Given the description of an element on the screen output the (x, y) to click on. 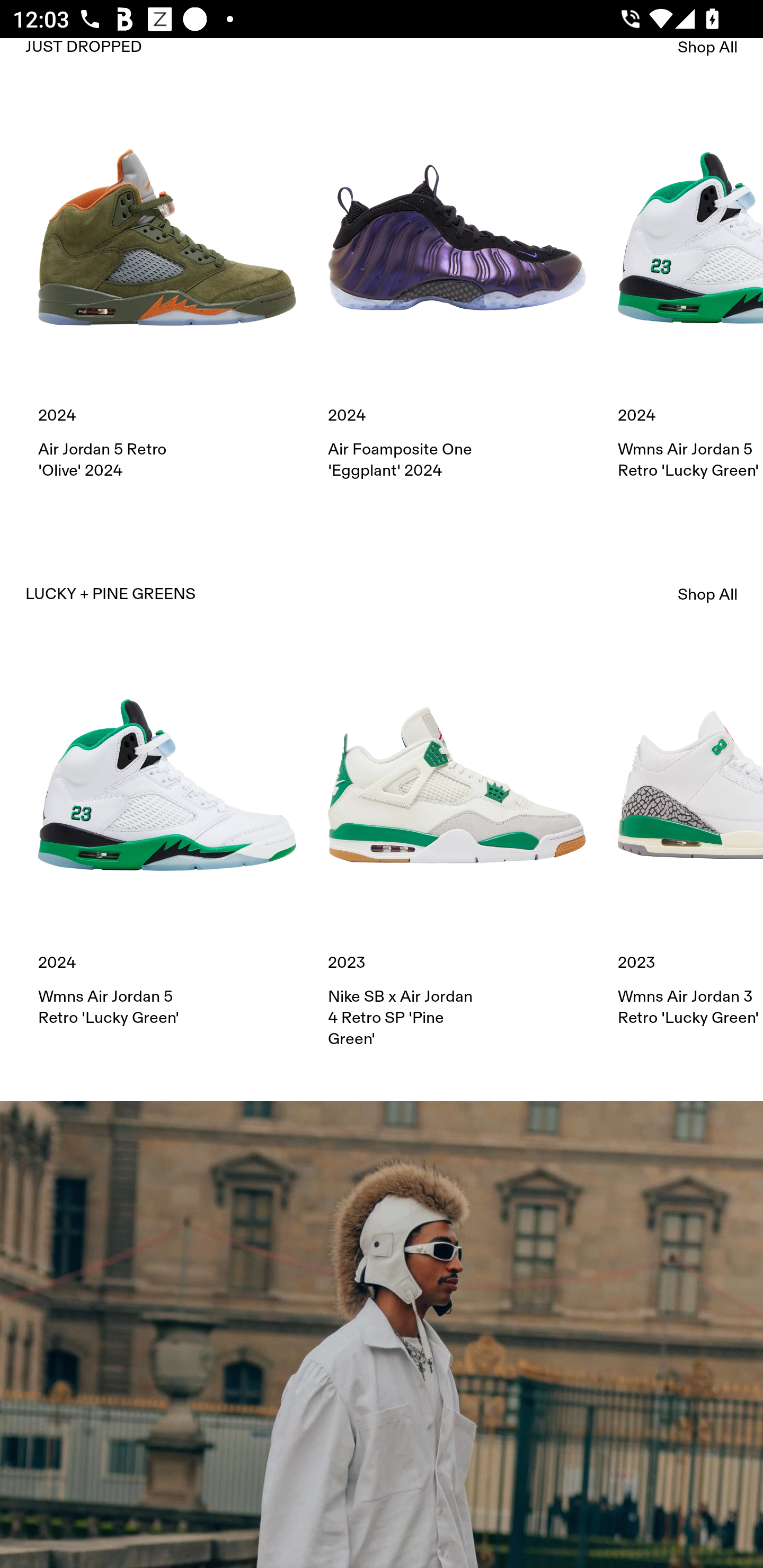
Shop All (707, 50)
2024 Air Jordan 5 Retro 'Olive' 2024 (167, 294)
2024 Air Foamposite One 'Eggplant' 2024 (456, 294)
2024 Wmns Air Jordan 5 Retro 'Lucky Green' (690, 294)
Shop All (707, 594)
2024 Wmns Air Jordan 5 Retro 'Lucky Green' (167, 841)
2023 Nike SB x Air Jordan 4 Retro SP 'Pine Green' (456, 852)
2023 Wmns Air Jordan 3 Retro 'Lucky Green' (690, 841)
